Given the description of an element on the screen output the (x, y) to click on. 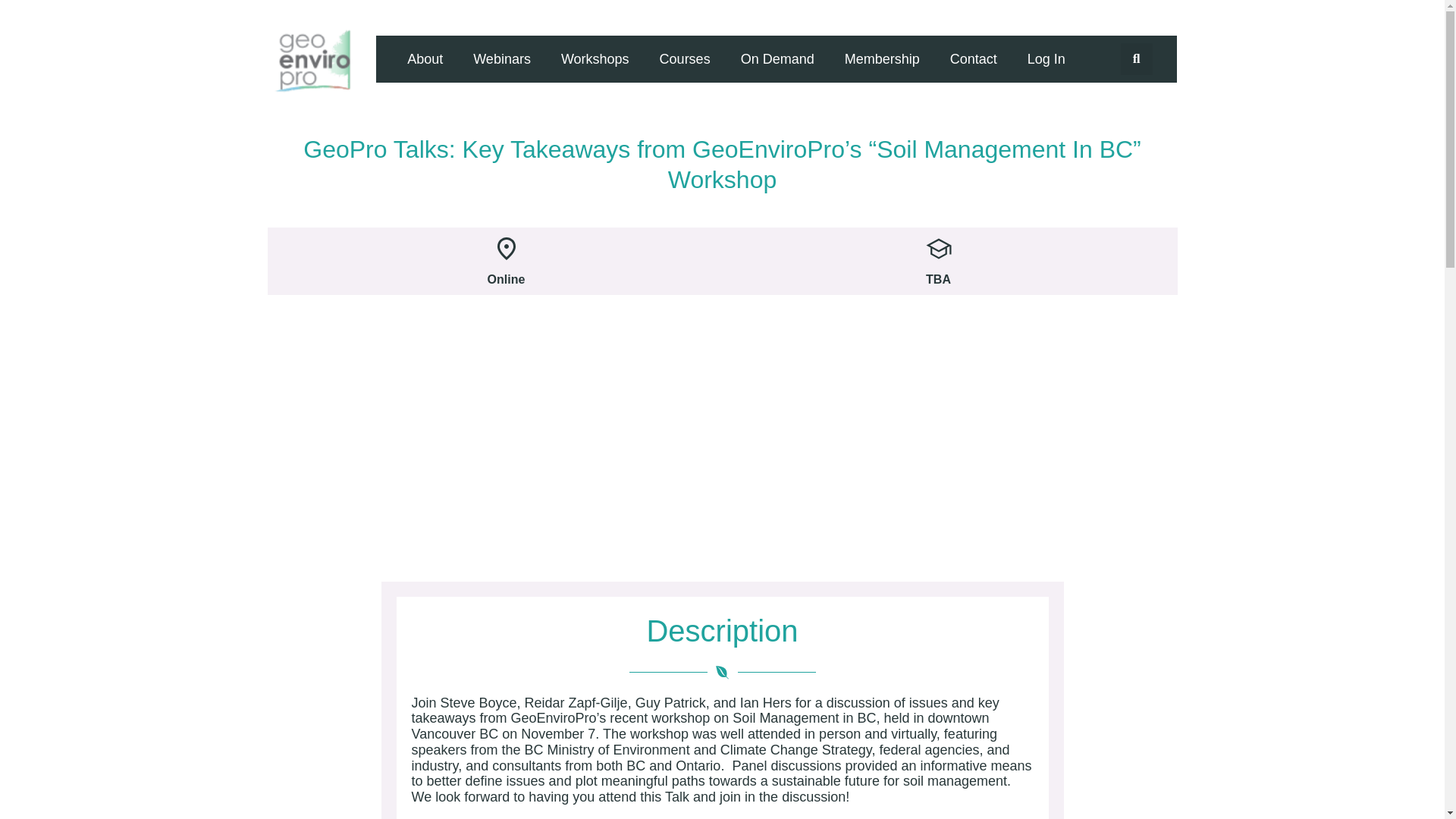
About (424, 59)
Workshops (595, 59)
Membership (881, 59)
Webinars (502, 59)
Log In (1045, 59)
Contact (972, 59)
On Demand (777, 59)
Courses (685, 59)
